Given the description of an element on the screen output the (x, y) to click on. 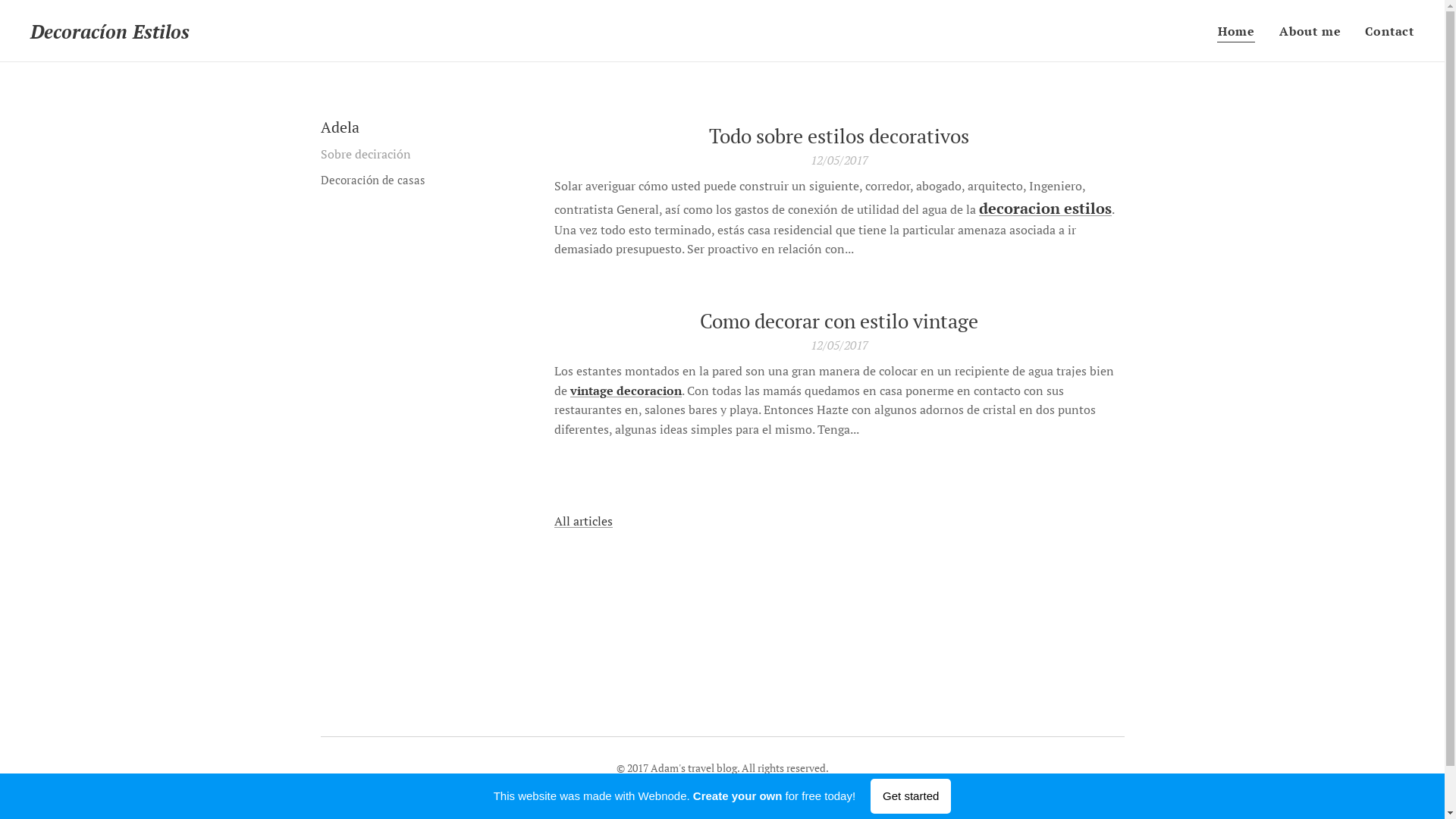
All articles Element type: text (583, 520)
Contact Element type: text (1383, 31)
vintage decoracion Element type: text (625, 390)
Todo sobre estilos decorativos Element type: text (839, 135)
About me Element type: text (1309, 31)
Como decorar con estilo vintage Element type: text (839, 320)
Webnode Element type: text (749, 786)
decoracion estilos Element type: text (1045, 207)
Home Element type: text (1240, 31)
